Given the description of an element on the screen output the (x, y) to click on. 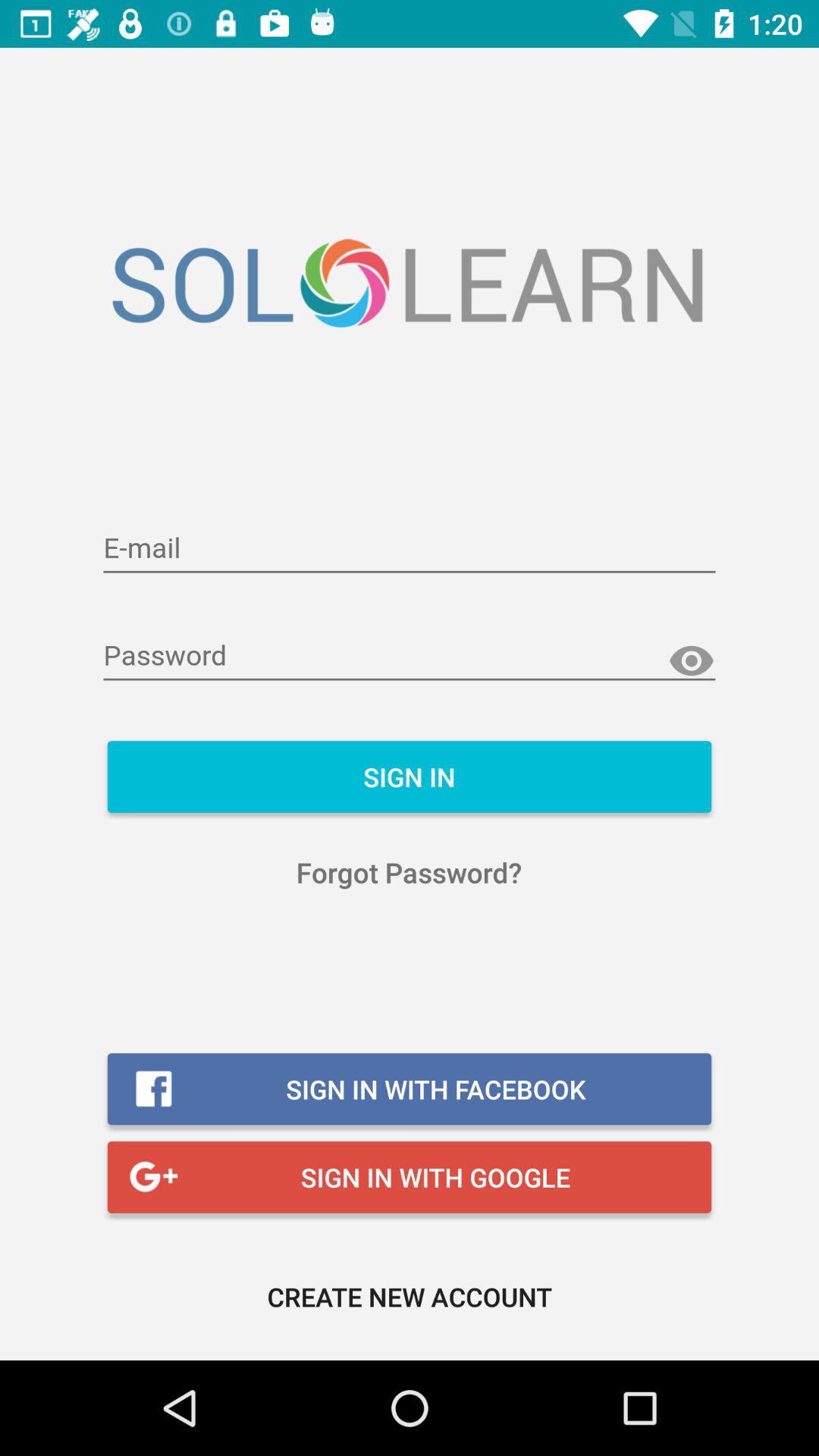
enter email (409, 548)
